Given the description of an element on the screen output the (x, y) to click on. 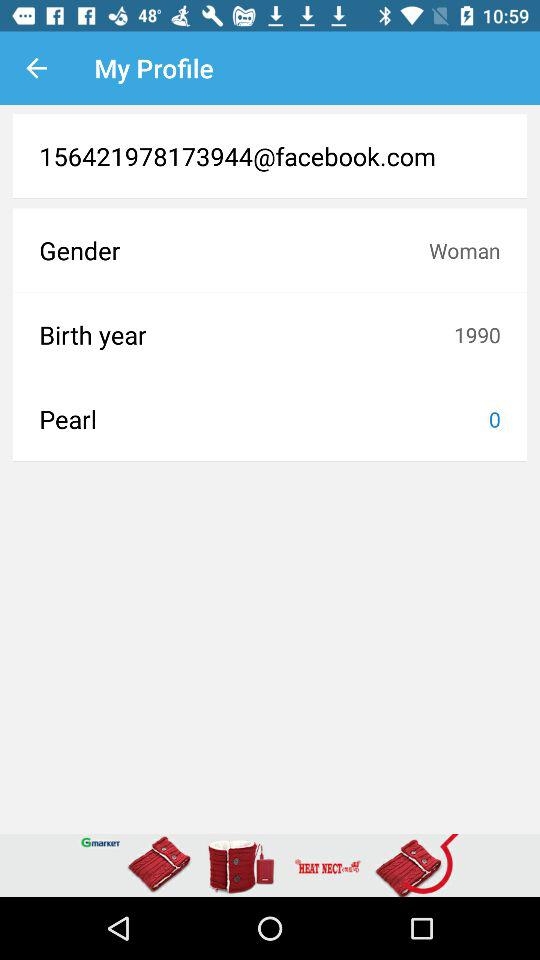
click the icon below woman icon (477, 334)
